Given the description of an element on the screen output the (x, y) to click on. 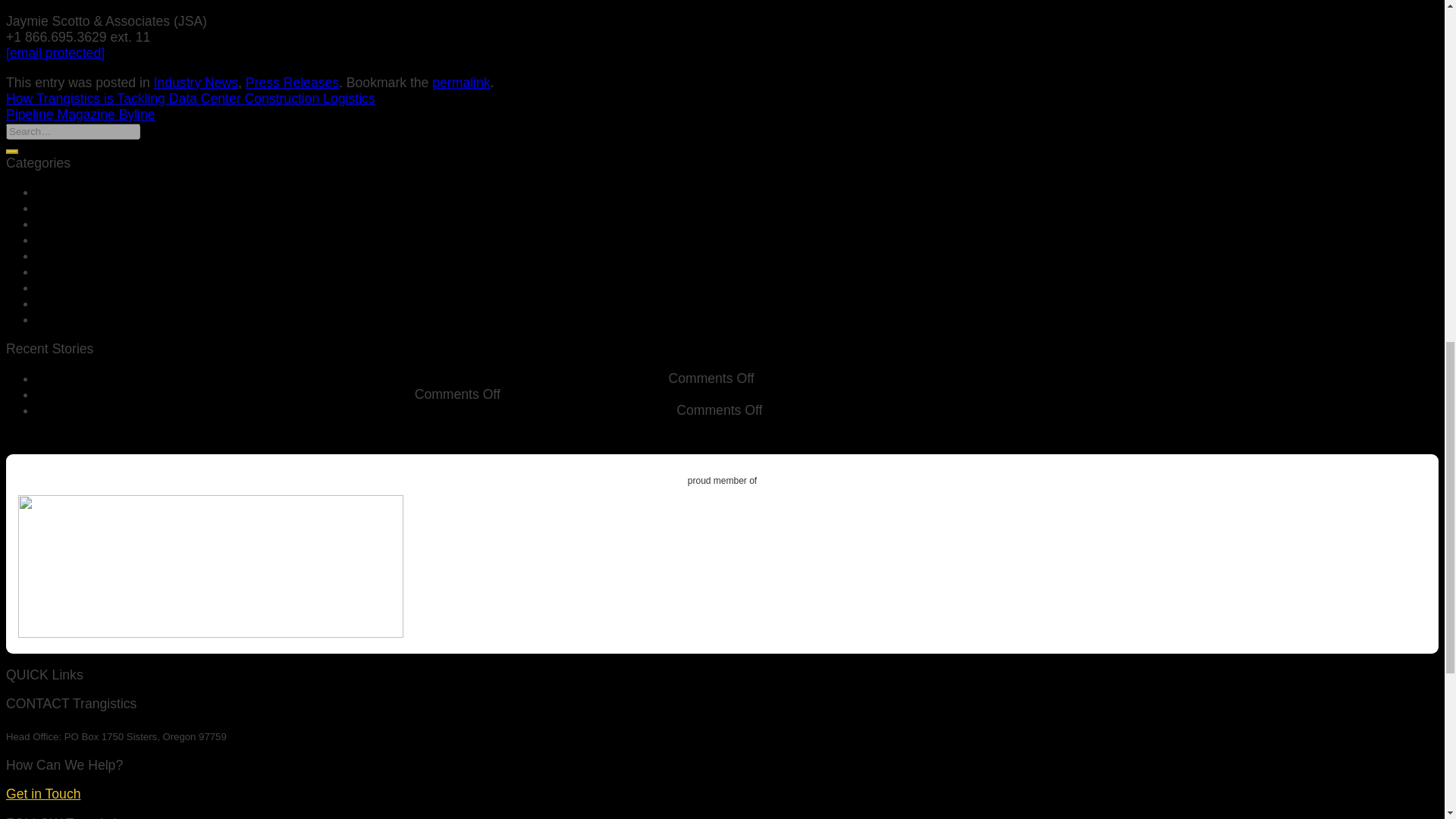
Industry (60, 239)
Industry News (196, 82)
Pipeline Magazine Byline (80, 114)
Agent Stories (76, 191)
Press Releases (292, 82)
Agents (57, 207)
permalink (460, 82)
